Given the description of an element on the screen output the (x, y) to click on. 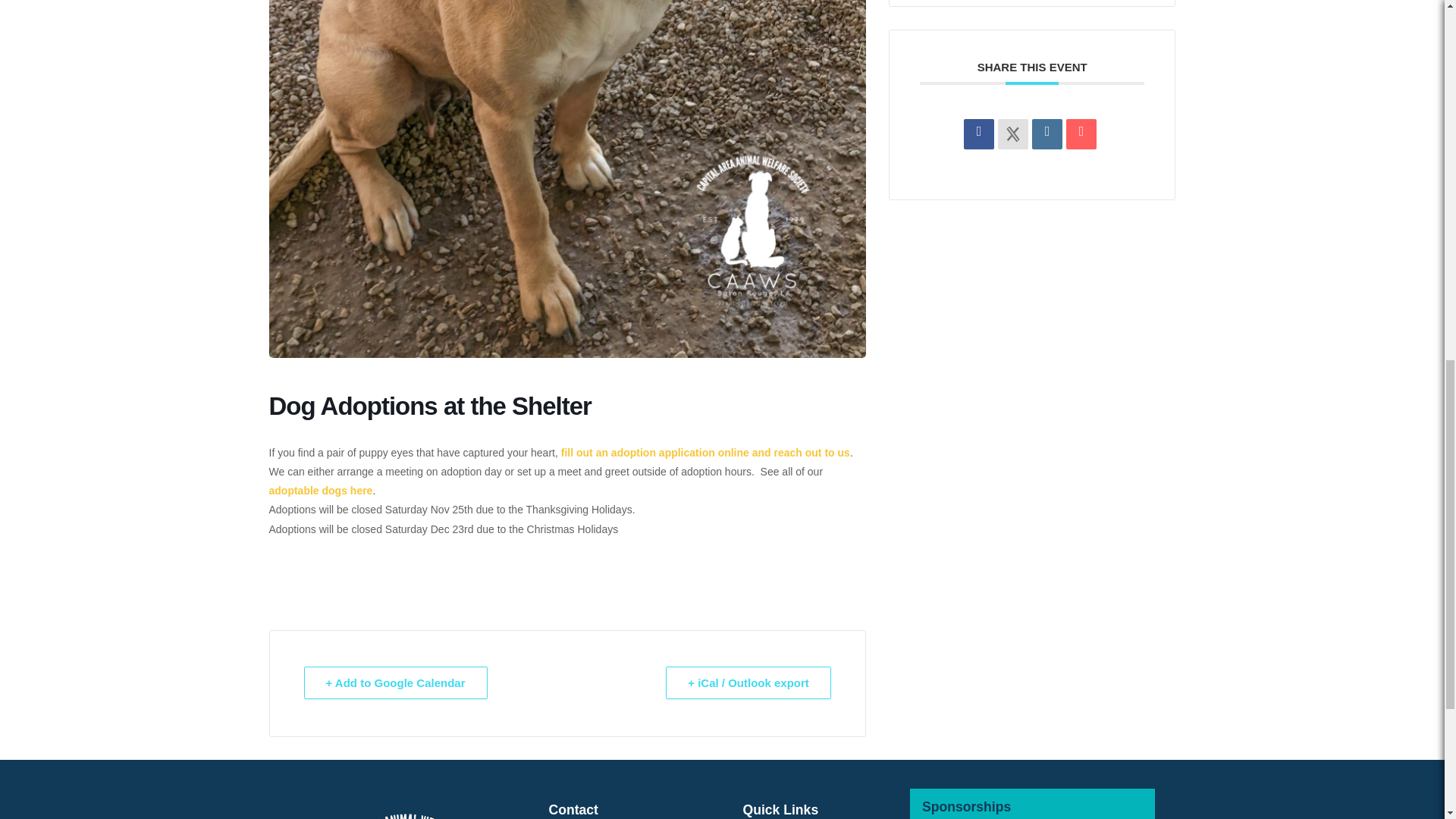
Share on Facebook (978, 133)
X Social Network (1012, 133)
Email (1080, 133)
Linkedin (1047, 133)
